Given the description of an element on the screen output the (x, y) to click on. 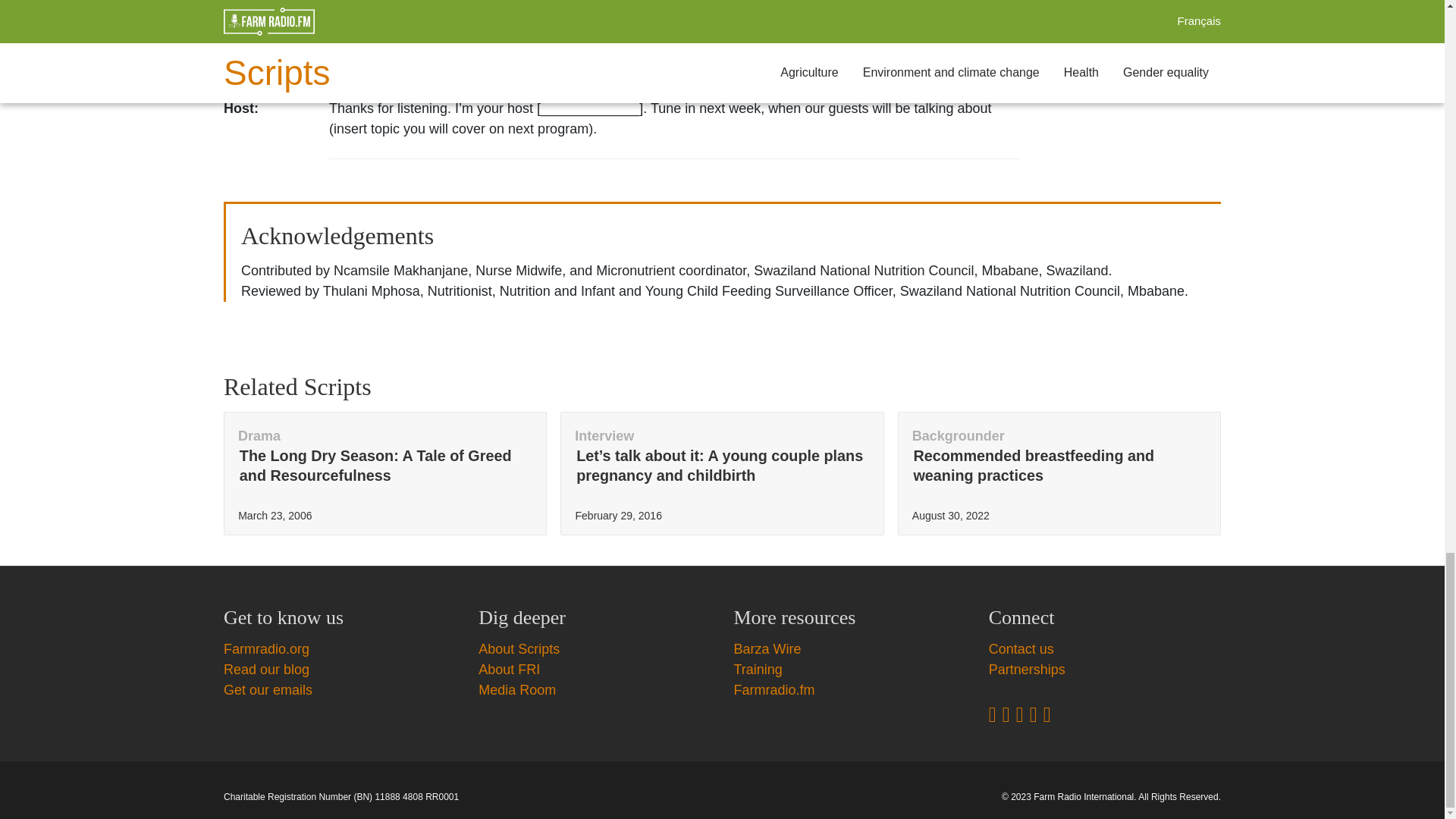
Farmradio.org (266, 648)
Training (758, 669)
Read our blog (266, 669)
Farmradio.fm (774, 689)
About Scripts (519, 648)
Barza Wire (767, 648)
Media Room (517, 689)
Farm Radio International (1083, 796)
